Given the description of an element on the screen output the (x, y) to click on. 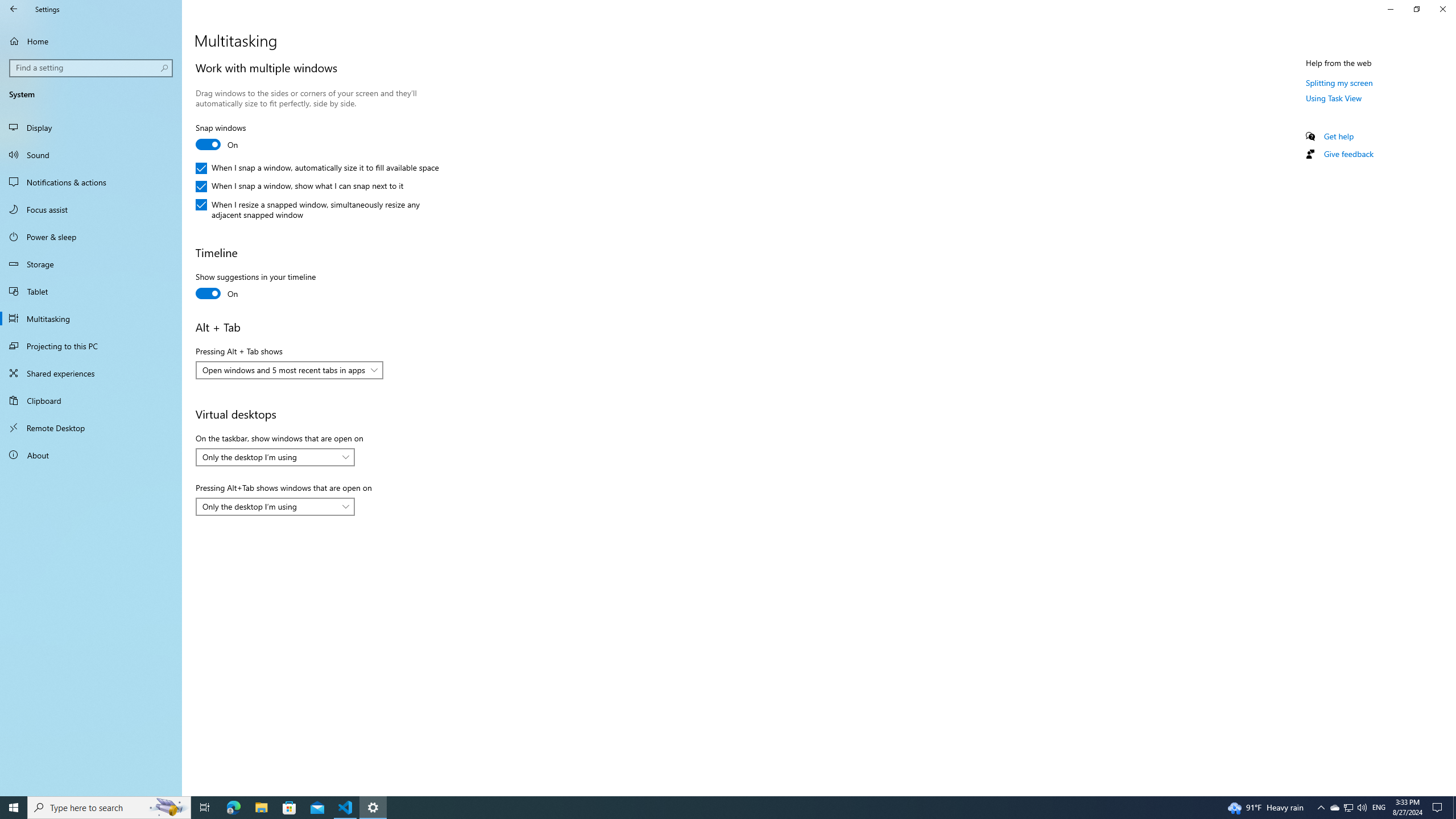
When I snap a window, show what I can snap next to it (299, 186)
Task View (204, 807)
Tablet (91, 290)
Back (13, 9)
File Explorer (261, 807)
Sound (91, 154)
Multitasking (91, 318)
Tray Input Indicator - English (United States) (1378, 807)
Close Settings (1442, 9)
Notification Chevron (1320, 807)
Running applications (706, 807)
User Promoted Notification Area (1347, 807)
Settings - 1 running window (373, 807)
